Given the description of an element on the screen output the (x, y) to click on. 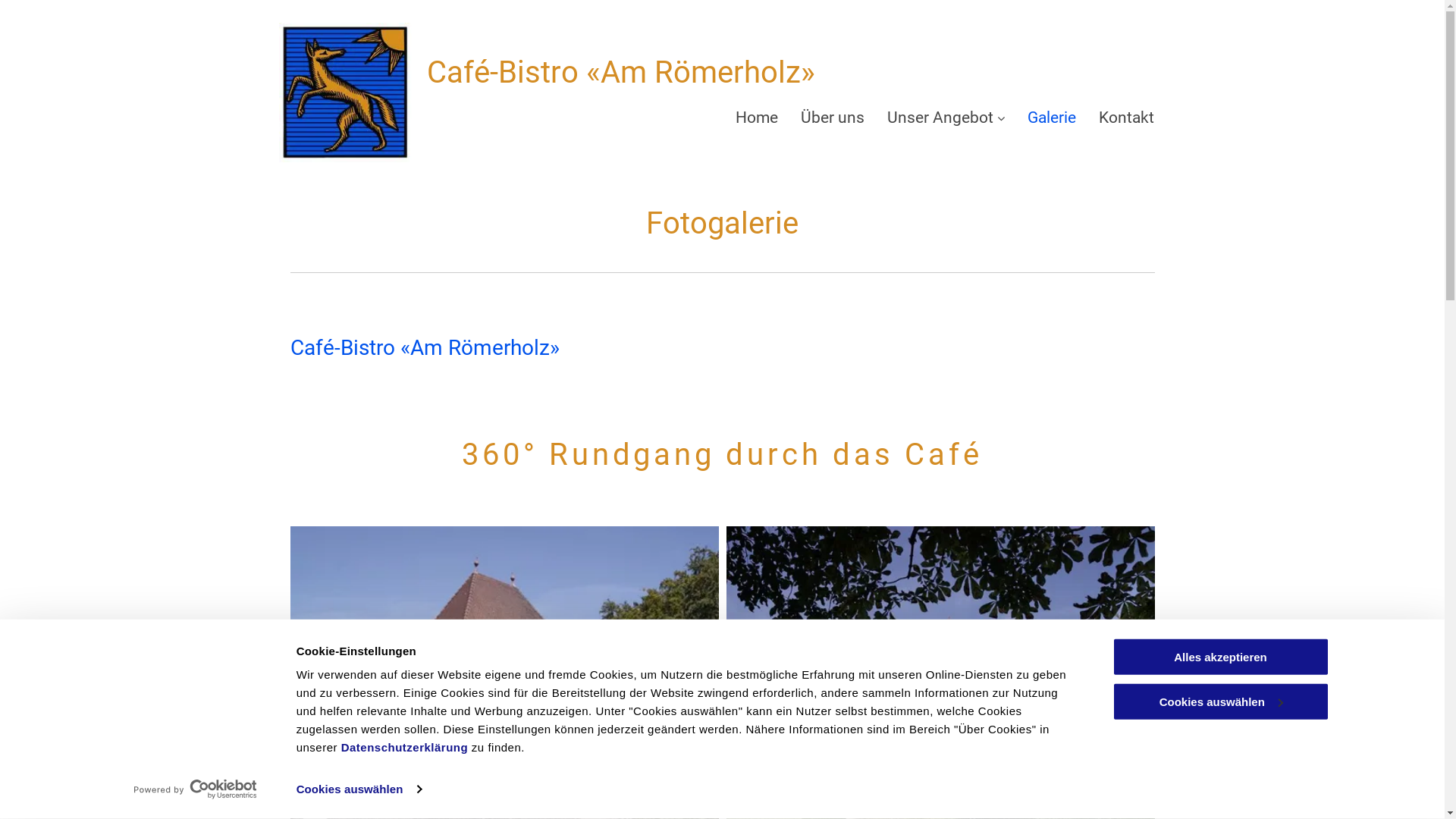
Galerie Element type: text (1051, 118)
Home Element type: text (756, 118)
Unser Angebot Element type: text (945, 118)
Kontakt Element type: text (1126, 118)
Alles akzeptieren Element type: text (1219, 656)
